Given the description of an element on the screen output the (x, y) to click on. 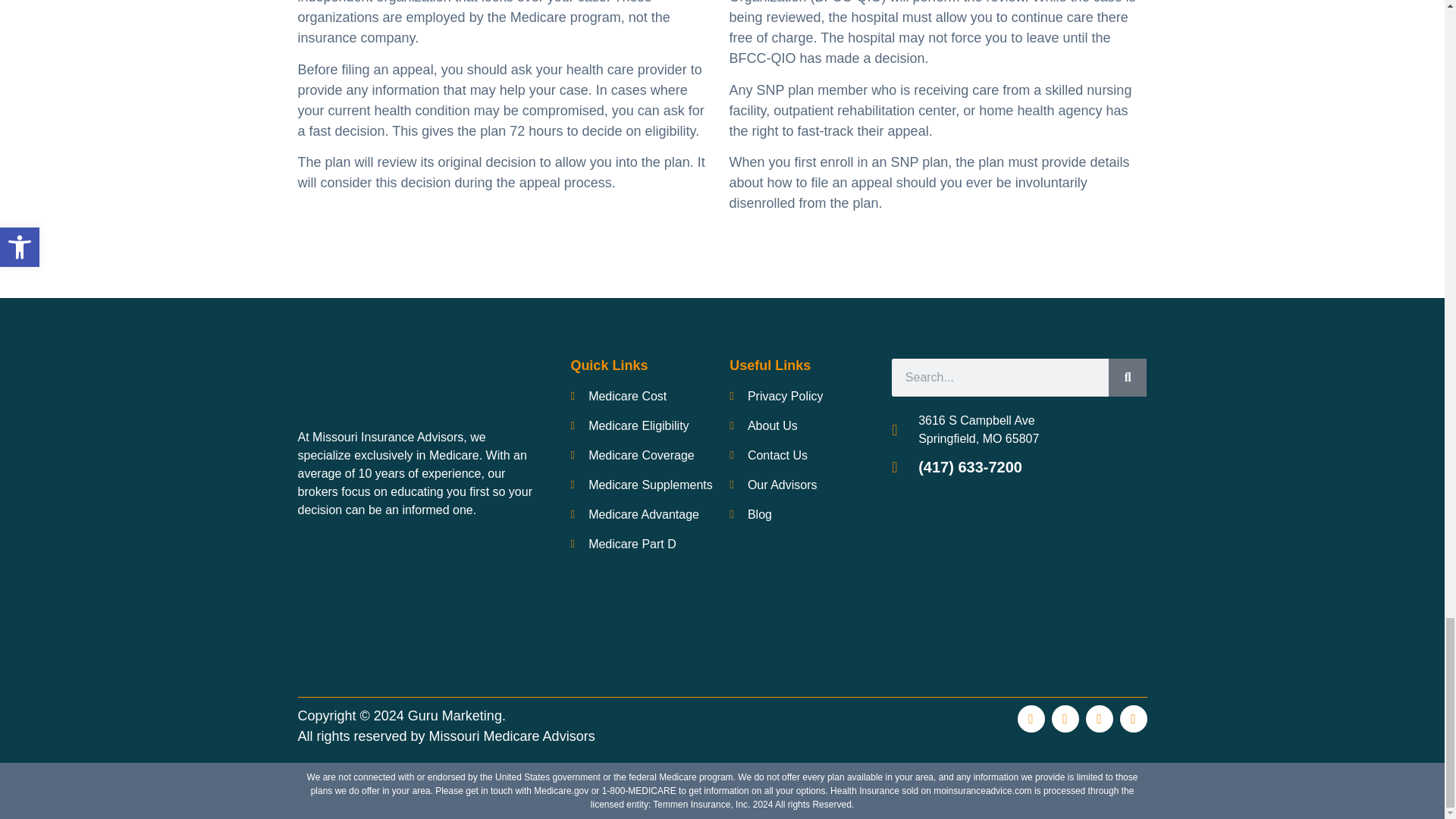
Best Health Insurance Agencies of Springfield MO (353, 602)
